Given the description of an element on the screen output the (x, y) to click on. 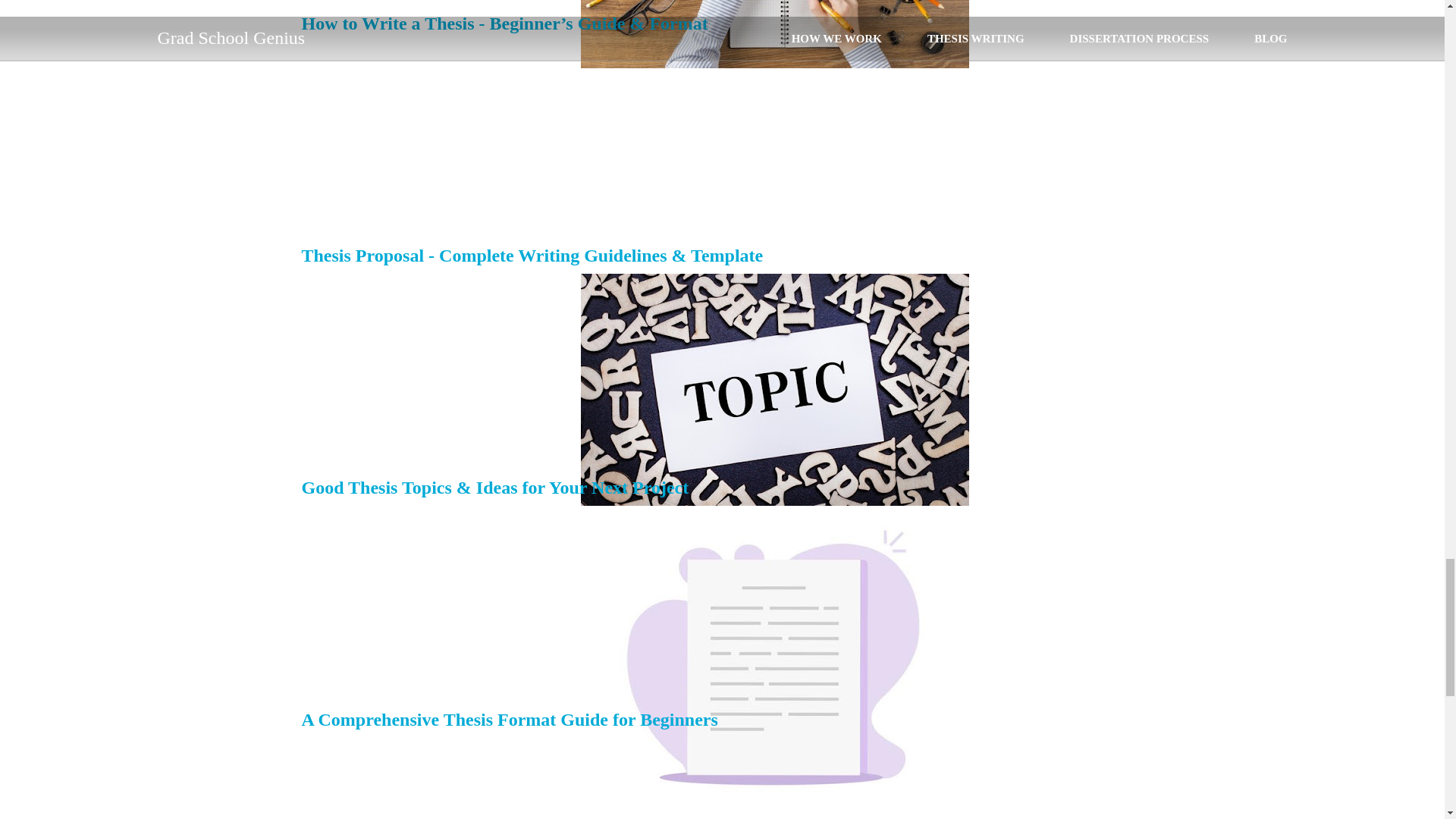
A Comprehensive Thesis Format Guide for Beginners (509, 719)
